Given the description of an element on the screen output the (x, y) to click on. 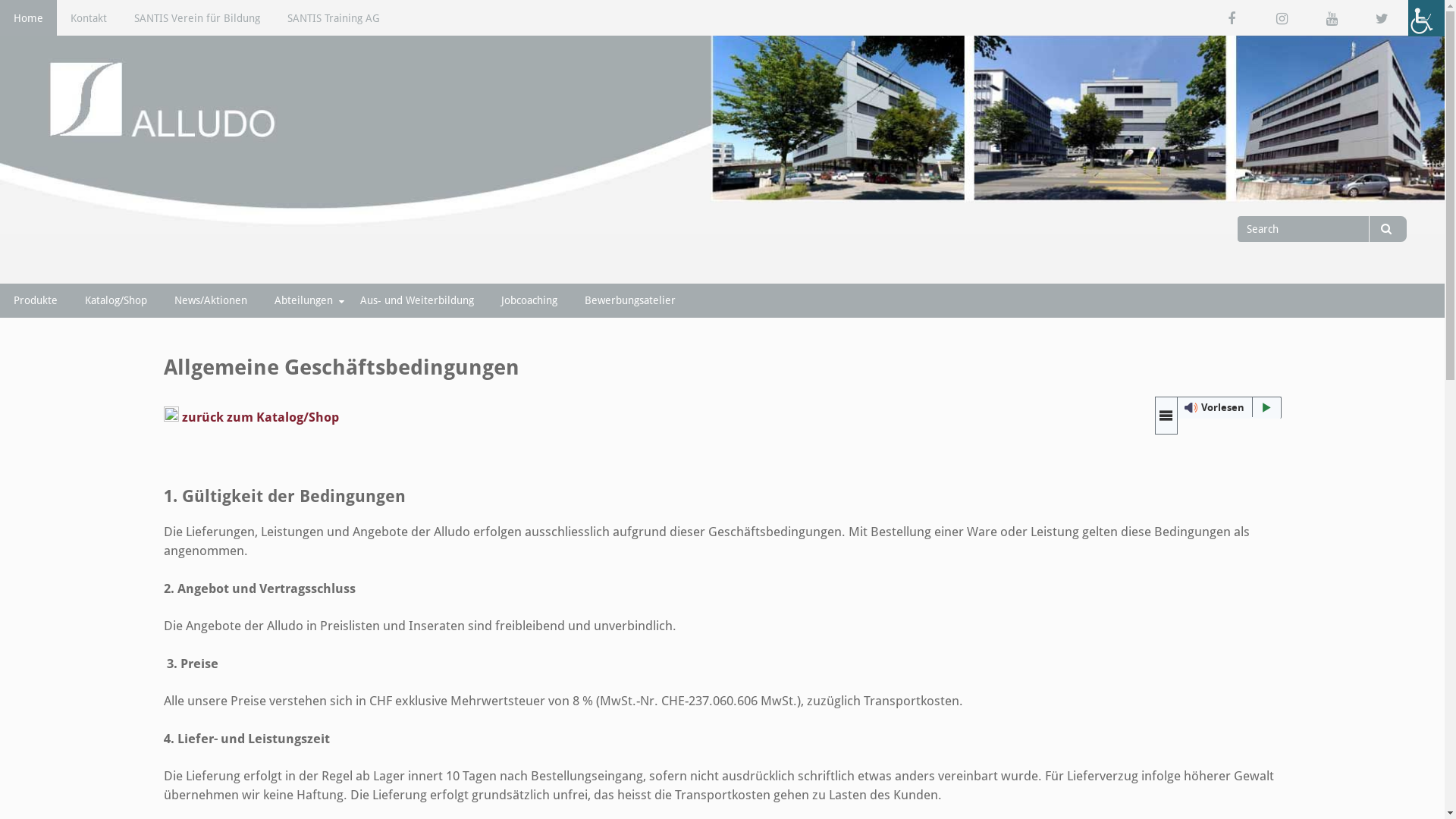
Praxisfirma Alludo Element type: text (147, 244)
Katalog/Shop Element type: text (115, 300)
Youtube Element type: text (1331, 17)
Twitter Element type: text (1381, 17)
Abteilungen Element type: text (303, 300)
SANTIS Training AG Element type: text (333, 17)
Produkte Element type: text (35, 300)
Accessibility Helper sidebar Element type: hover (1426, 18)
Jobcoaching Element type: text (529, 300)
Aus- und Weiterbildung Element type: text (416, 300)
Vorlesen Element type: text (1217, 407)
Instagram Element type: text (1281, 17)
Search Element type: text (1387, 229)
News/Aktionen Element type: text (210, 300)
Bewerbungsatelier Element type: text (630, 300)
Home Element type: text (28, 17)
Kontakt Element type: text (88, 17)
Facebook Element type: text (1231, 17)
